Given the description of an element on the screen output the (x, y) to click on. 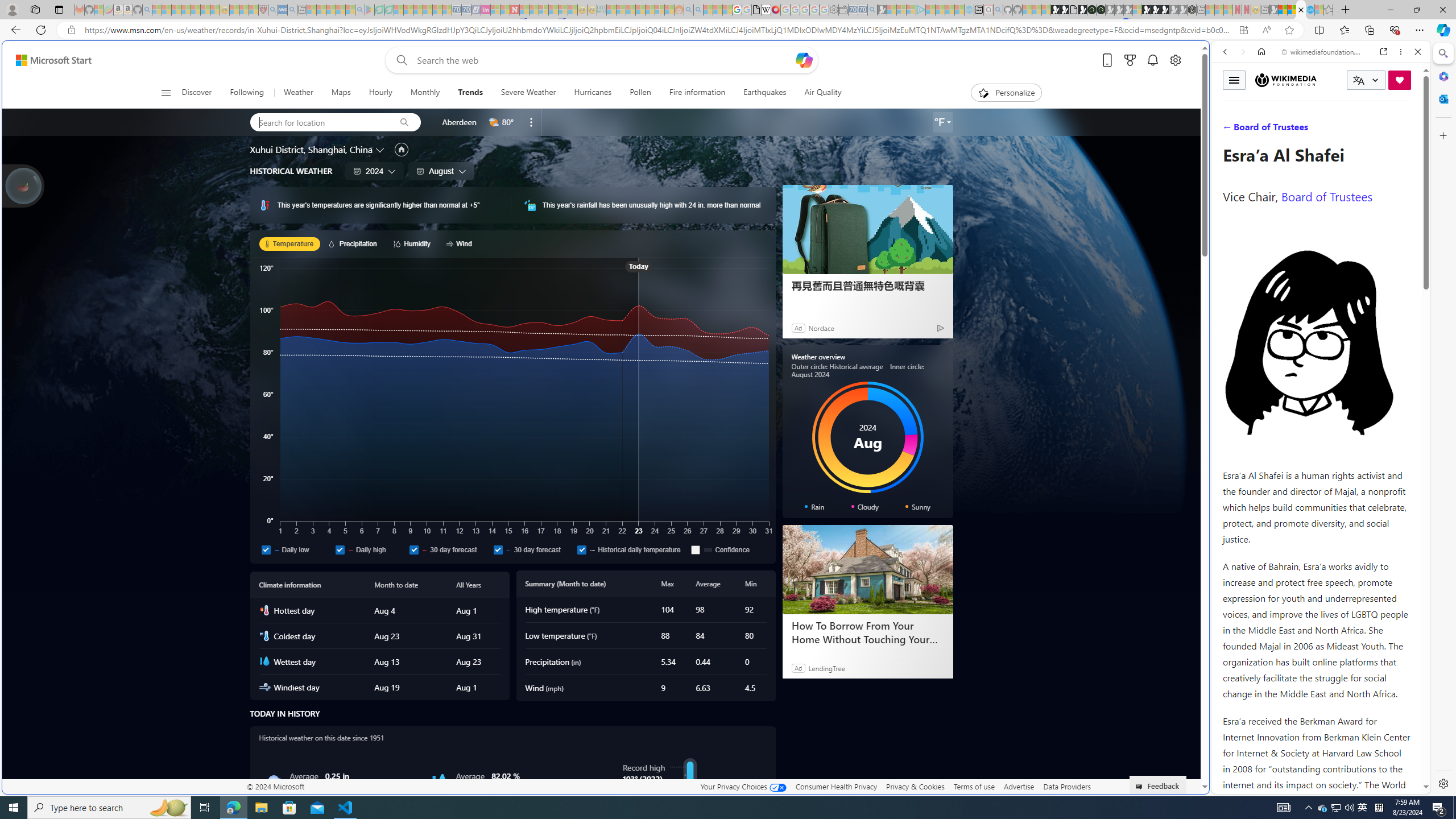
Wiktionary (1315, 380)
Wikimedia Foundation (1285, 79)
